Given the description of an element on the screen output the (x, y) to click on. 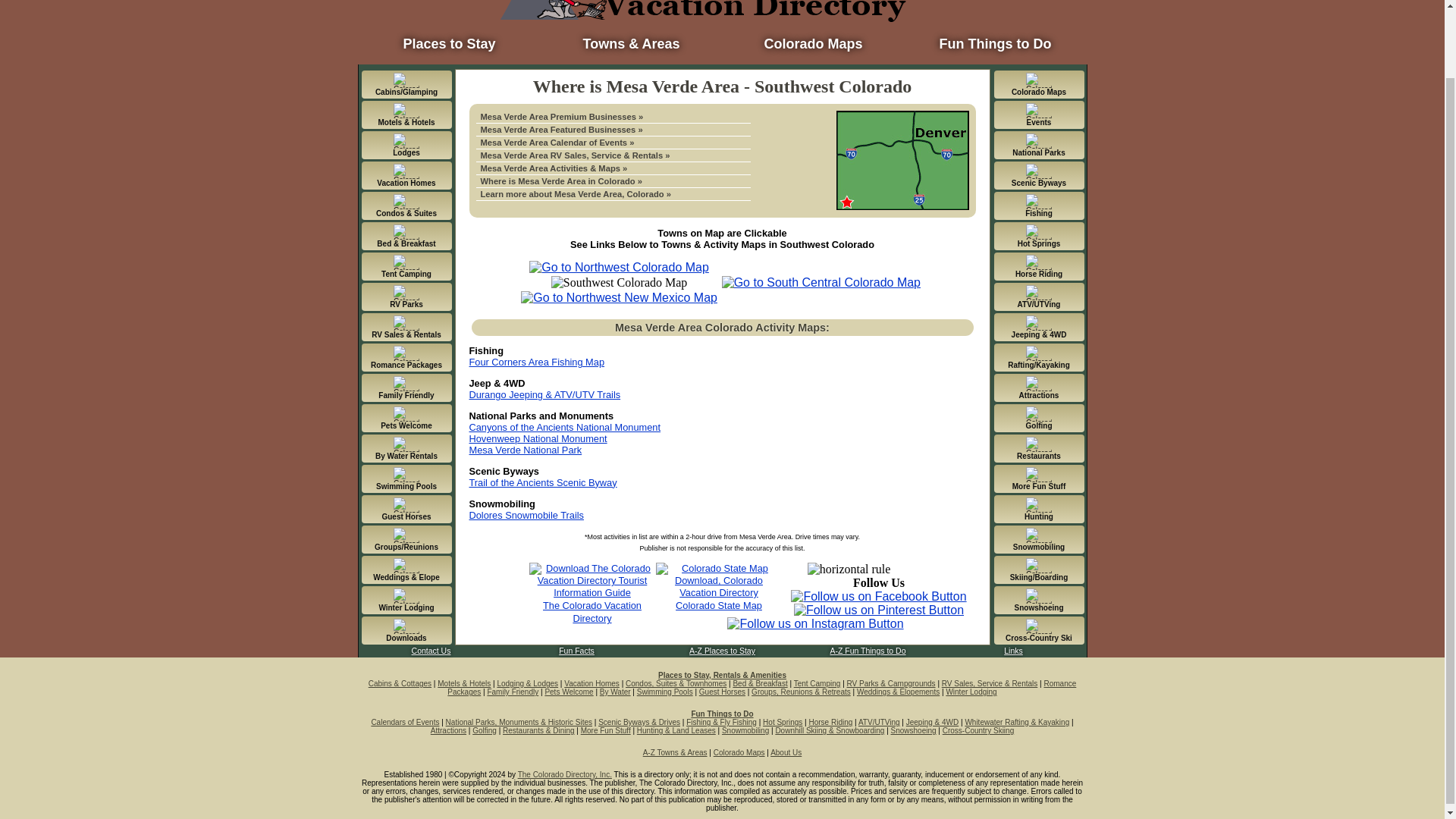
Mesa Verde National Park (524, 449)
The Colorado Vacation Directory (592, 611)
Mesa Verde Area Businesses - The Colorado Vacation Directory (613, 129)
Dolores Snowmobile Trails (525, 514)
Colorado State Map (718, 604)
Follow us on Facebook (878, 595)
Four Corners Area Fishing Map (536, 361)
Places to Stay (449, 39)
